Given the description of an element on the screen output the (x, y) to click on. 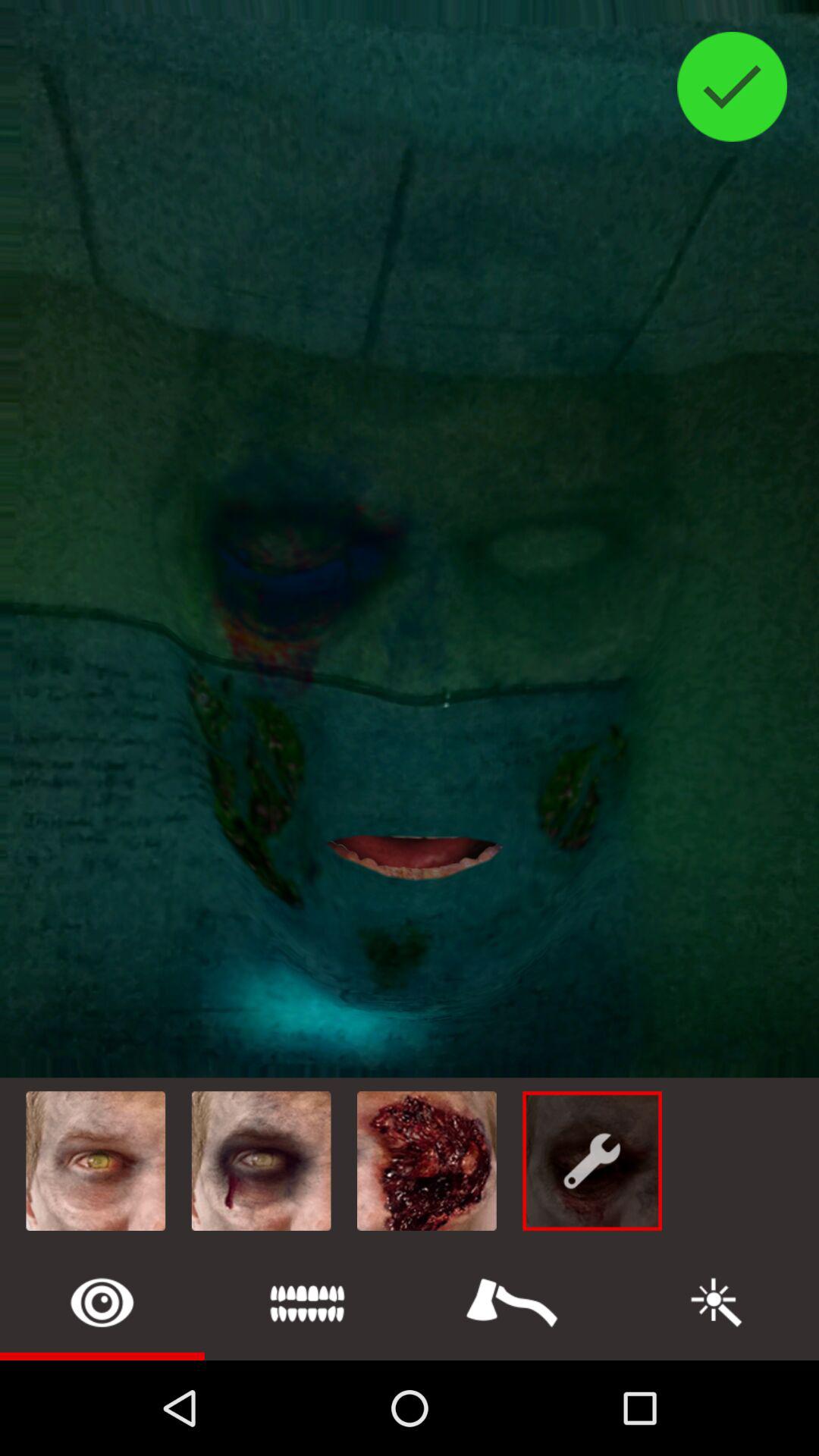
use hatchet (511, 1302)
